Given the description of an element on the screen output the (x, y) to click on. 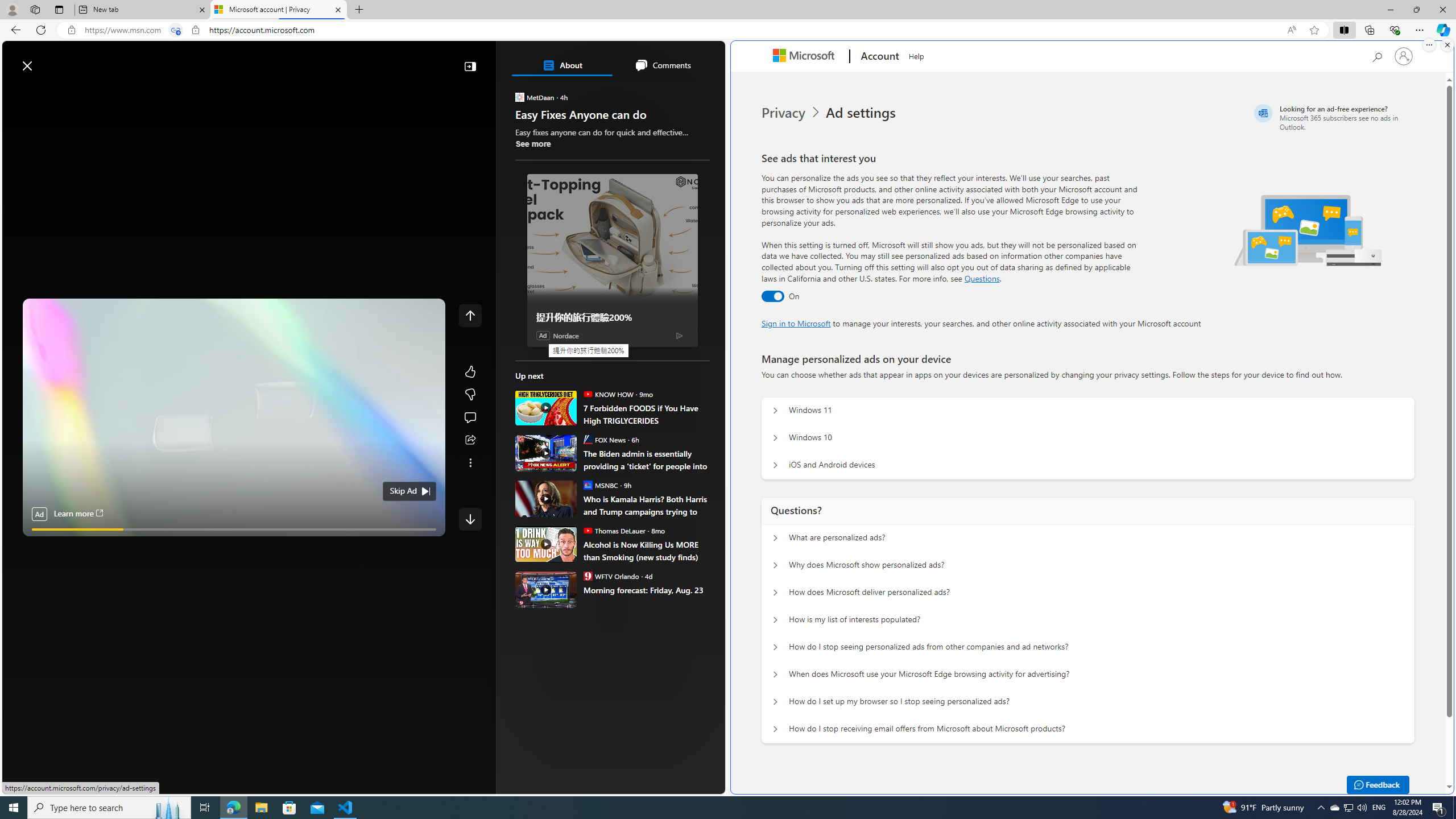
Open navigation menu (16, 92)
Collapse (469, 65)
Web search (161, 60)
Microsoft (805, 56)
